Given the description of an element on the screen output the (x, y) to click on. 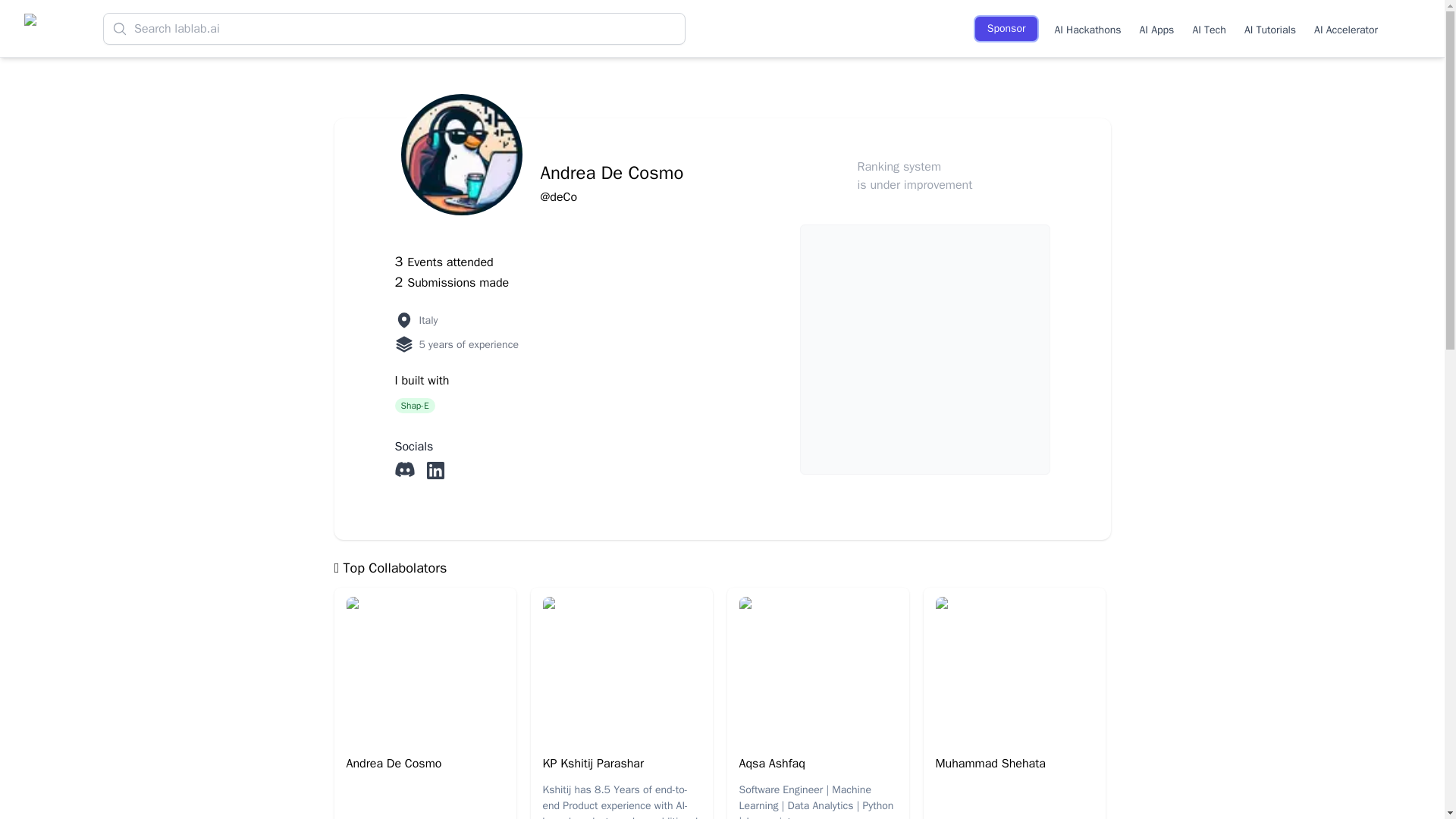
Shap-E (419, 404)
AI Accelerator (1345, 28)
Sponsor (1006, 28)
AI Tutorials (1269, 28)
AI Tech (1208, 28)
AI Hackathons (1087, 28)
AI Apps (1157, 28)
